Given the description of an element on the screen output the (x, y) to click on. 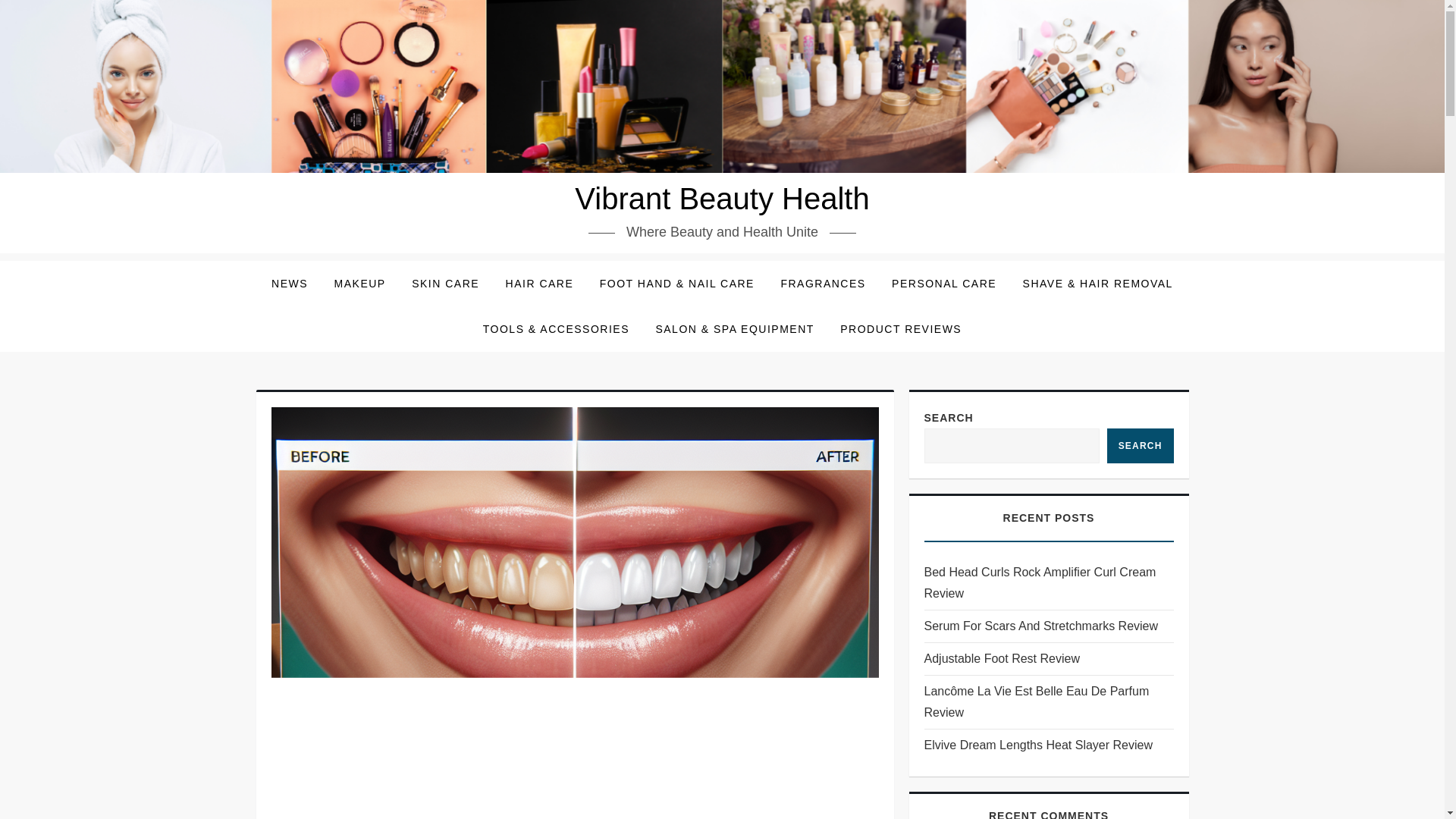
SKIN CARE (445, 283)
Vibrant Beauty Health (722, 198)
MAKEUP (360, 283)
PERSONAL CARE (943, 283)
PRODUCT REVIEWS (900, 329)
FRAGRANCES (822, 283)
HAIR CARE (540, 283)
NEWS (289, 283)
